Given the description of an element on the screen output the (x, y) to click on. 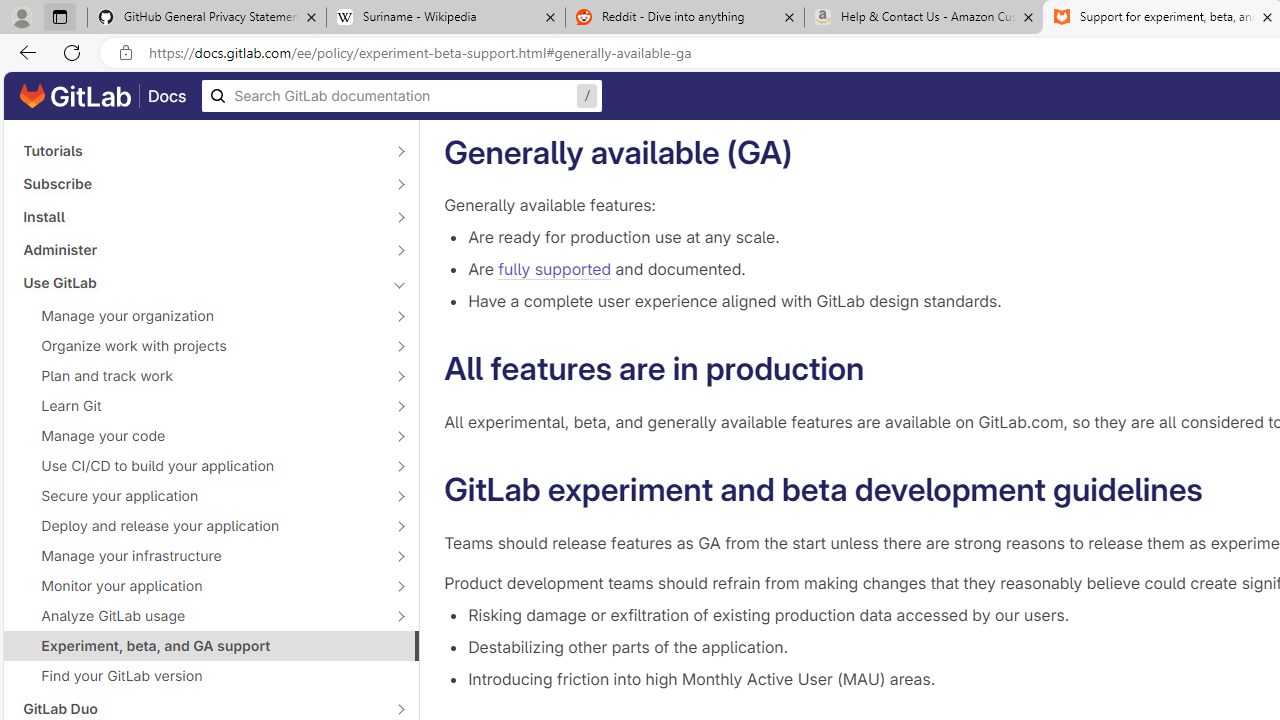
Deploy and release your application (199, 525)
Install (199, 216)
Organize work with projects (199, 345)
Experiment, beta, and GA support (211, 645)
Administer (199, 249)
Analyze GitLab usage (199, 615)
GitHub General Privacy Statement - GitHub Docs (207, 17)
GitLab documentation home (75, 96)
Manage your code (199, 435)
Monitor your application (199, 585)
Secure your application (199, 495)
